Given the description of an element on the screen output the (x, y) to click on. 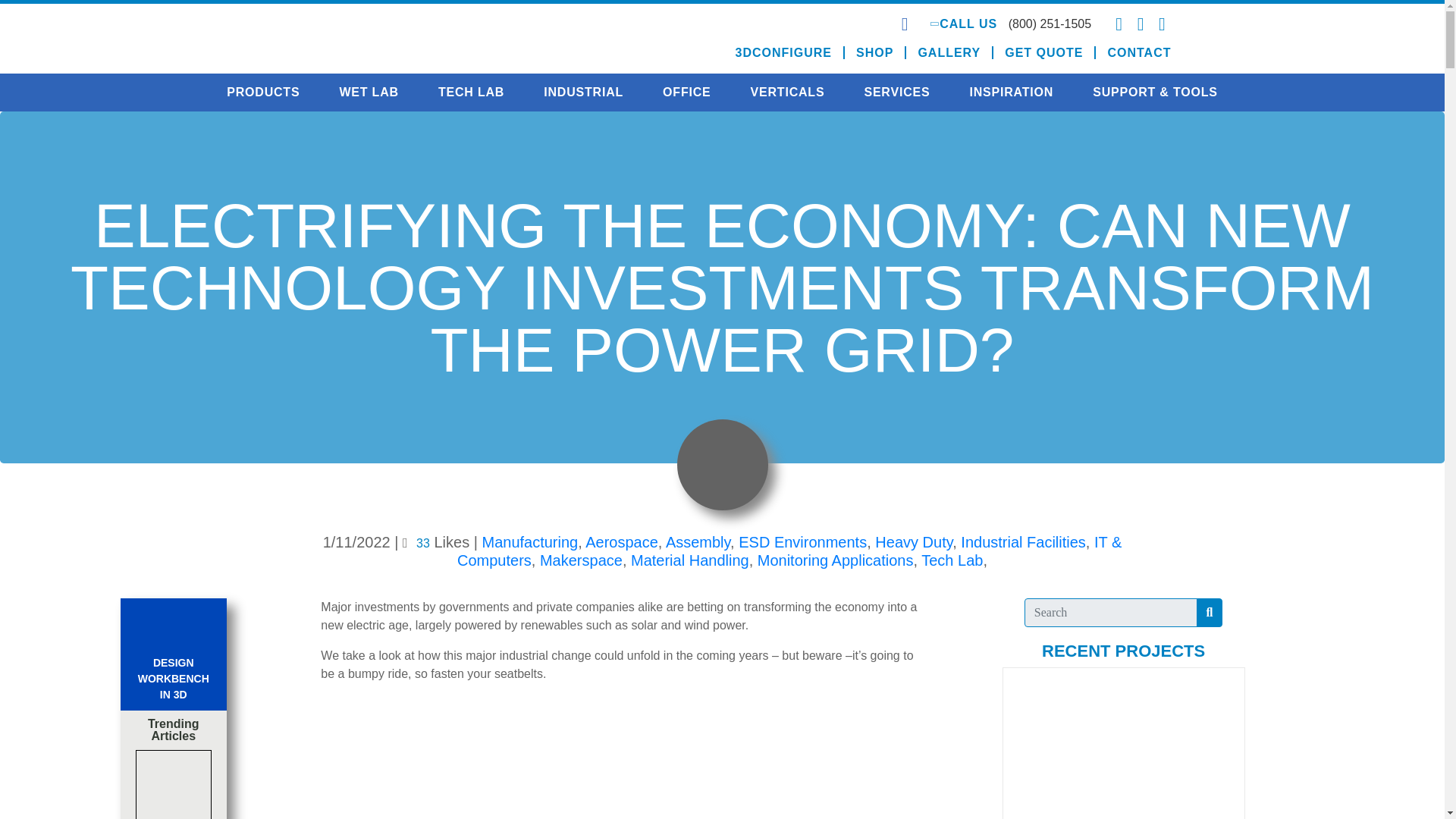
3DCONFIGURE (783, 51)
SHOP (874, 51)
GALLERY (948, 51)
CONTACT (1133, 51)
GET QUOTE (1044, 51)
PRODUCTS (262, 92)
